Given the description of an element on the screen output the (x, y) to click on. 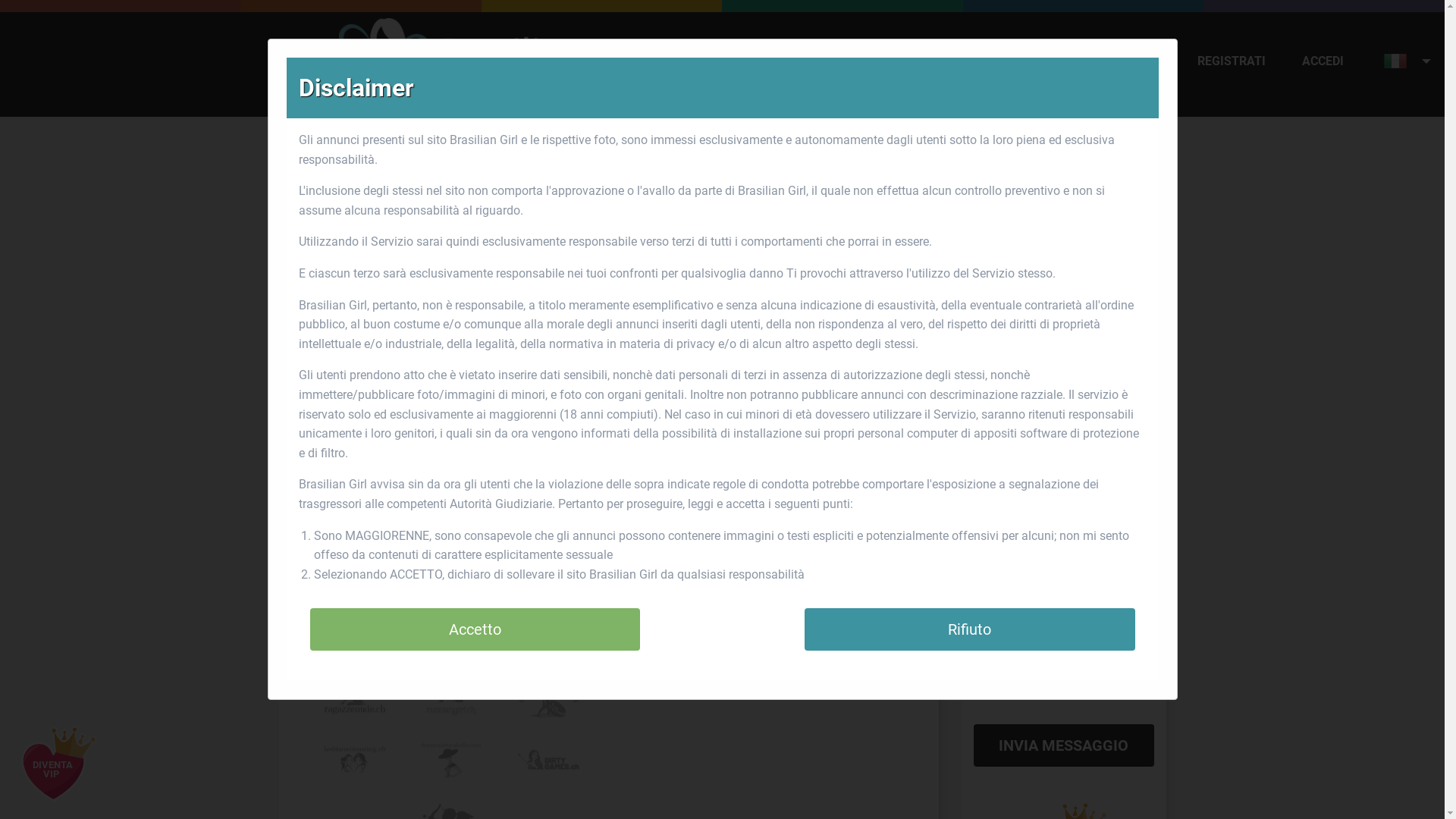
   Telefono: 3533984580 Element type: text (714, 507)
Mature Escort Element type: text (365, 150)
Incontri Vicenza Element type: text (654, 304)
ACCEDI Element type: text (1322, 61)
Rifiuto Element type: text (969, 629)
   Element type: text (1397, 61)
PUBBLICA ANNUNCIO GRATIS Element type: text (1077, 61)
Accetto Element type: text (474, 629)
Diventa VIP Element type: text (52, 773)
  CERCA Element type: text (928, 61)
Home Element type: text (298, 150)
Invia messaggio Element type: text (1063, 745)
Veneto Element type: text (434, 150)
Vicenza Element type: text (483, 150)
termini e le condizioni Element type: text (1061, 590)
l'informativa sulla privacy Element type: text (1057, 608)
Donna Matura escort Vicenza Element type: text (762, 304)
REGISTRATI Element type: text (1231, 61)
